Given the description of an element on the screen output the (x, y) to click on. 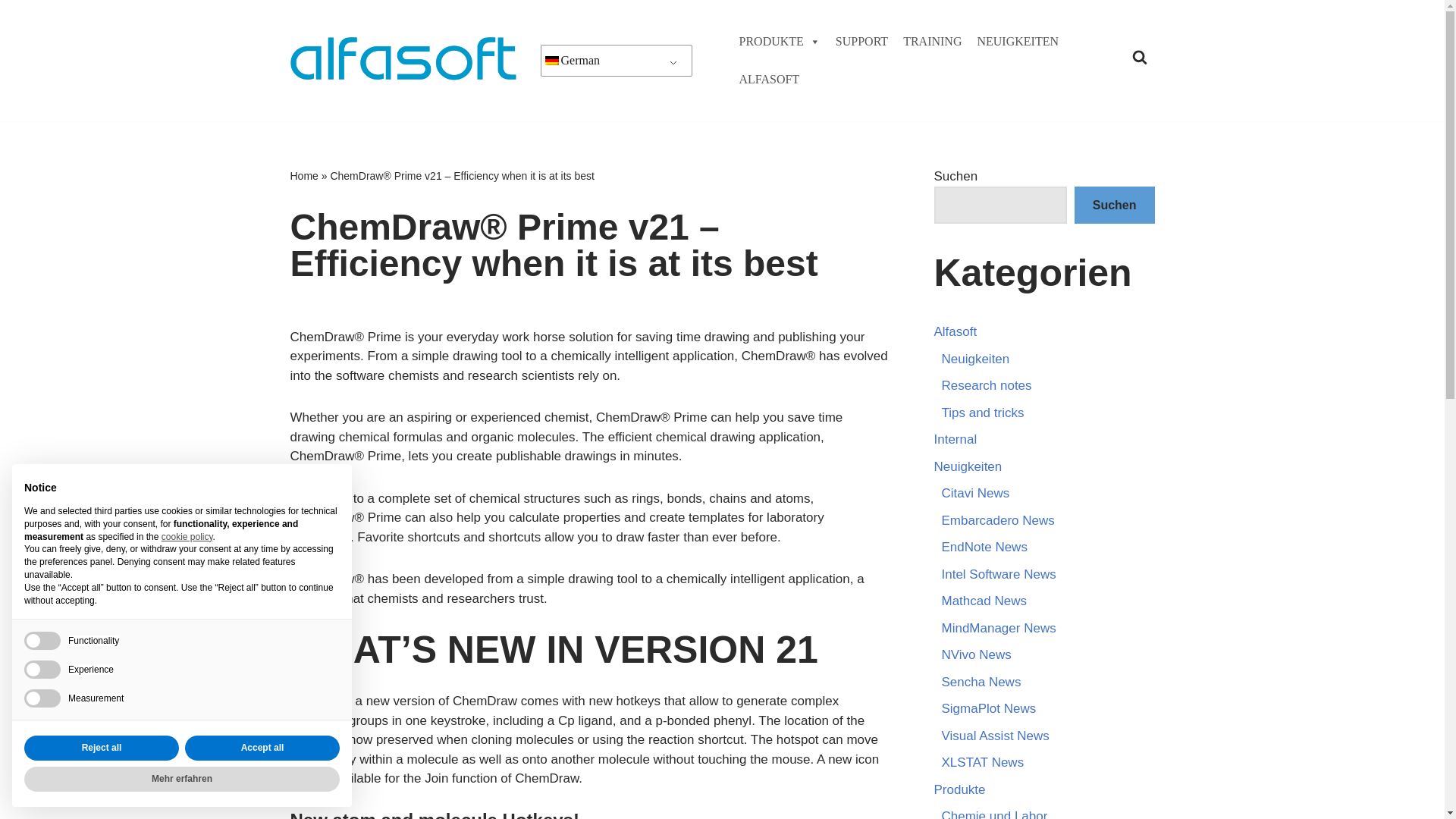
false (42, 669)
false (42, 698)
German (616, 60)
German (550, 60)
PRODUKTE (778, 41)
German (616, 60)
Zum Inhalt springen (11, 31)
false (42, 640)
